Given the description of an element on the screen output the (x, y) to click on. 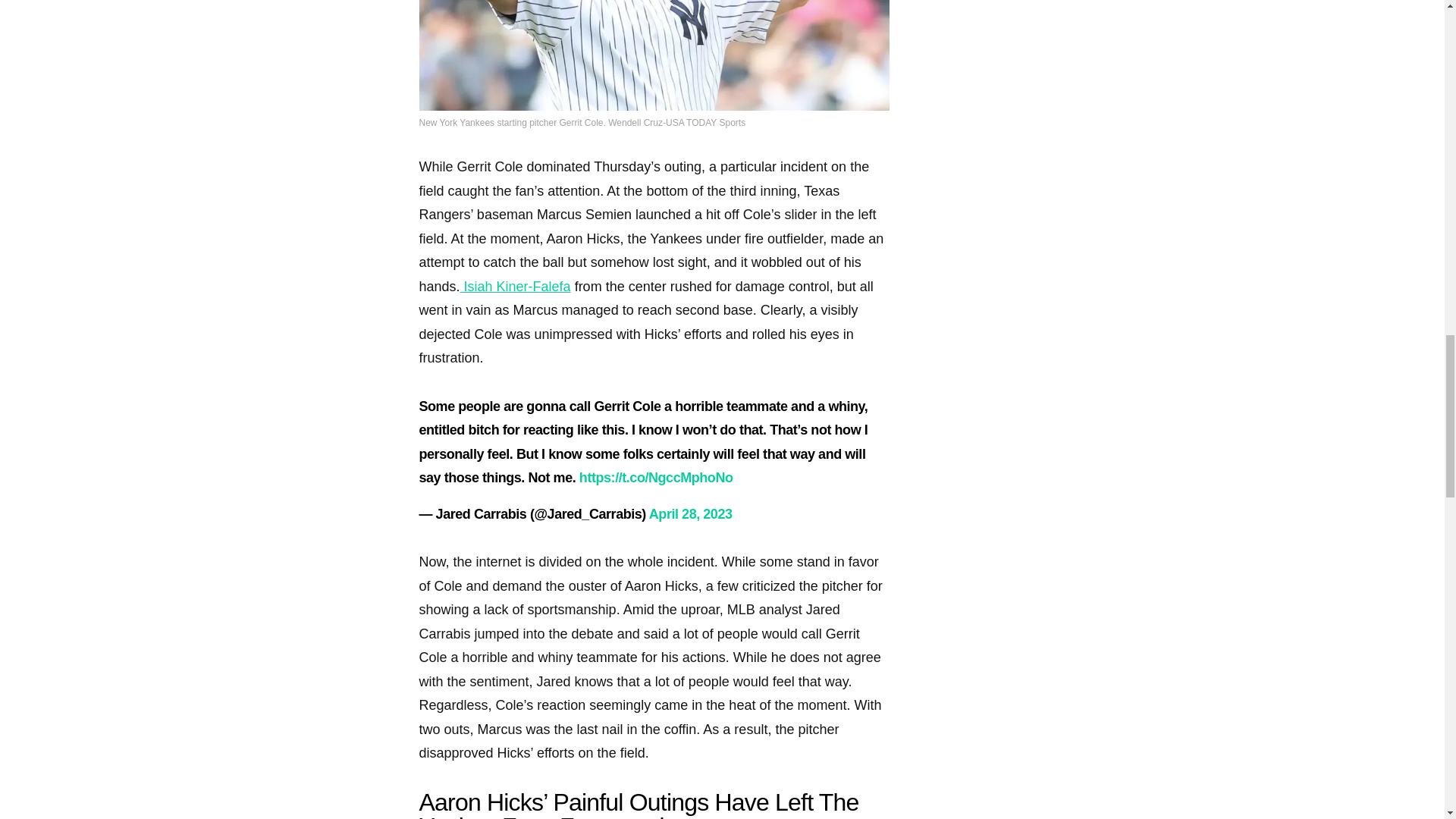
Isiah Kiner-Falefa (515, 286)
April 28, 2023 (690, 513)
